Given the description of an element on the screen output the (x, y) to click on. 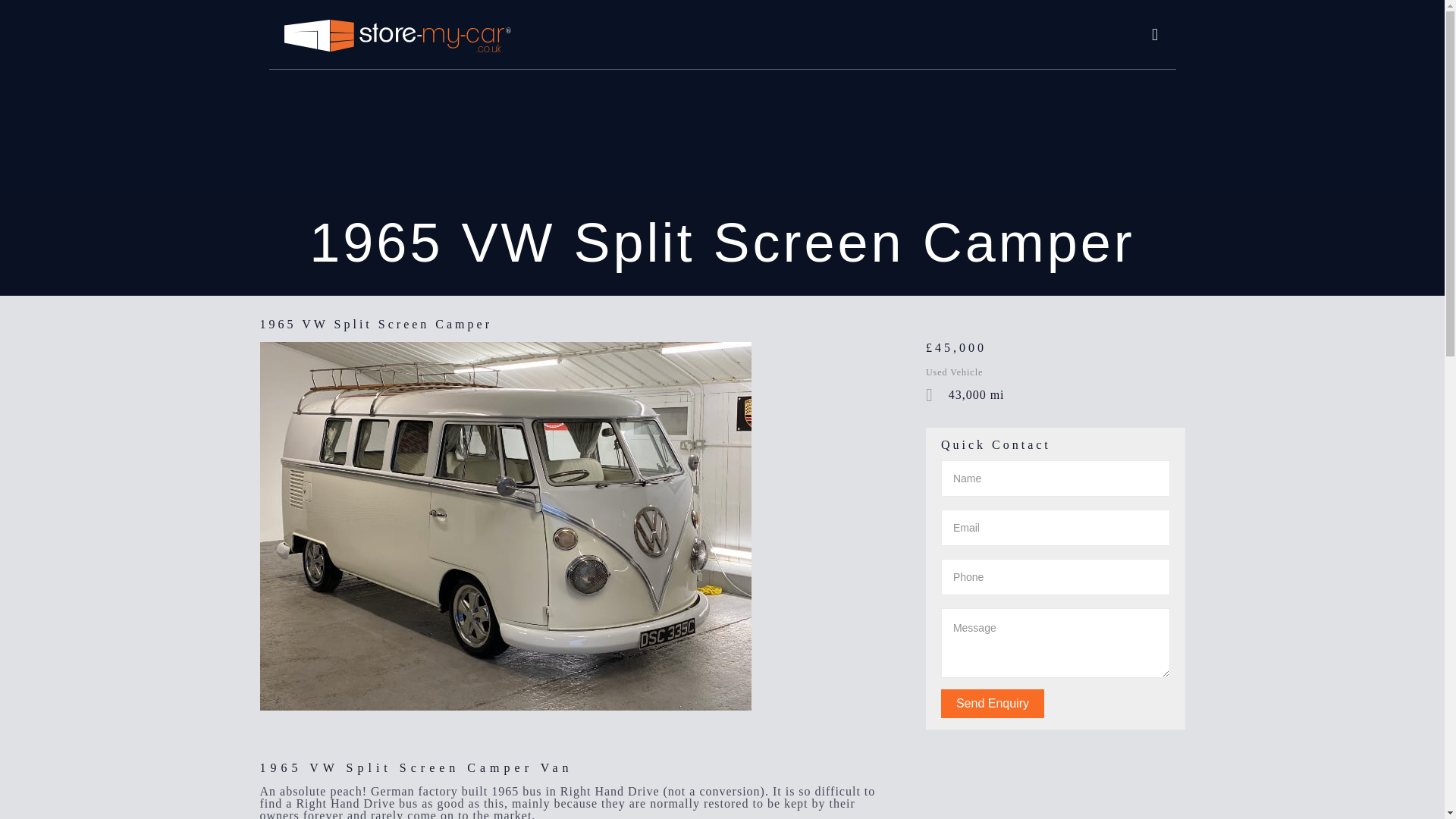
Send Enquiry (991, 703)
Store My Car (397, 34)
